Given the description of an element on the screen output the (x, y) to click on. 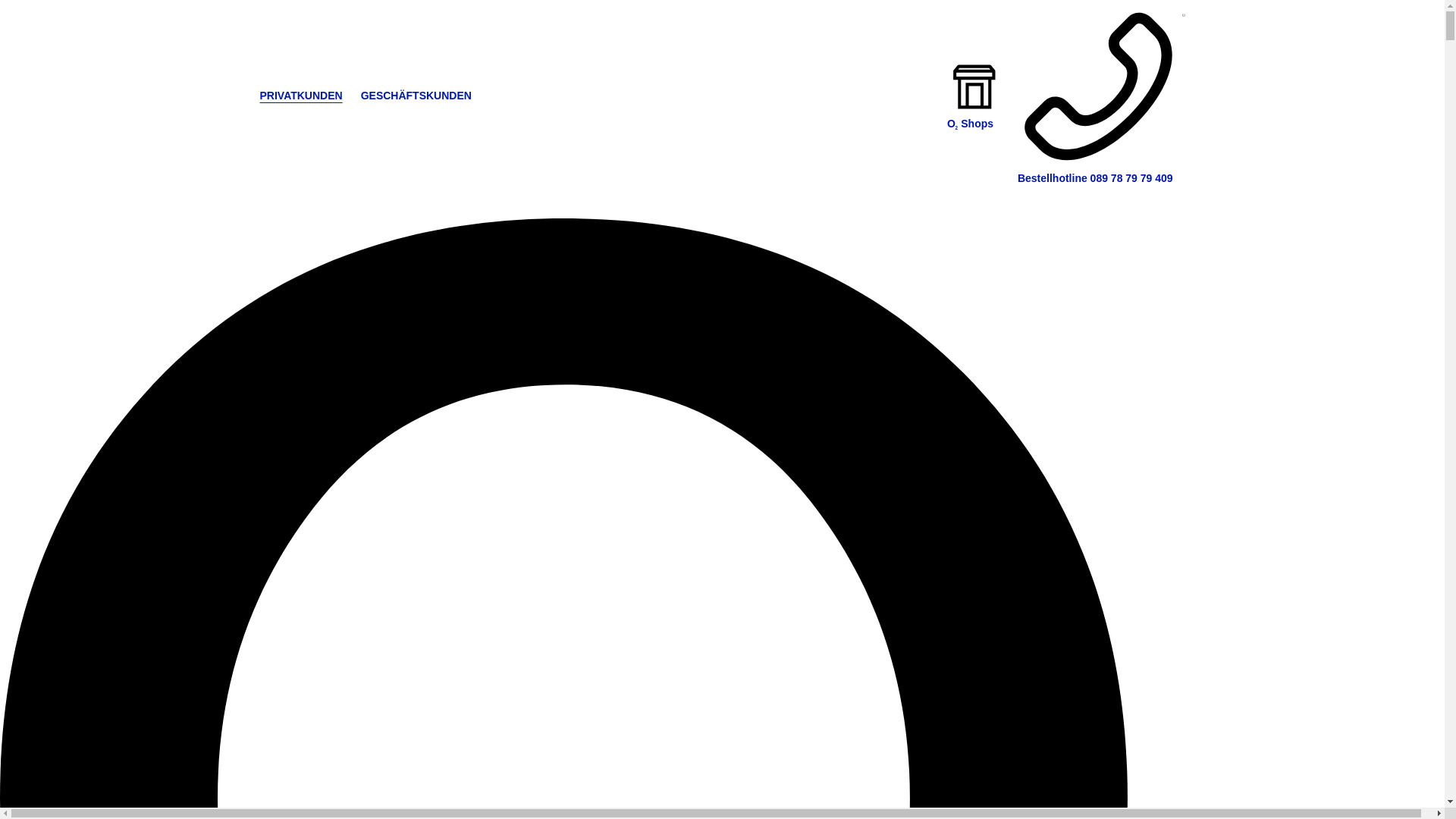
O2 Shops (975, 116)
Bestellhotline 089 78 79 79 409 (1098, 95)
PRIVATKUNDEN (300, 95)
PRIVATKUNDEN (300, 95)
Bestellhotline (1098, 95)
o2 Shops (975, 116)
